Given the description of an element on the screen output the (x, y) to click on. 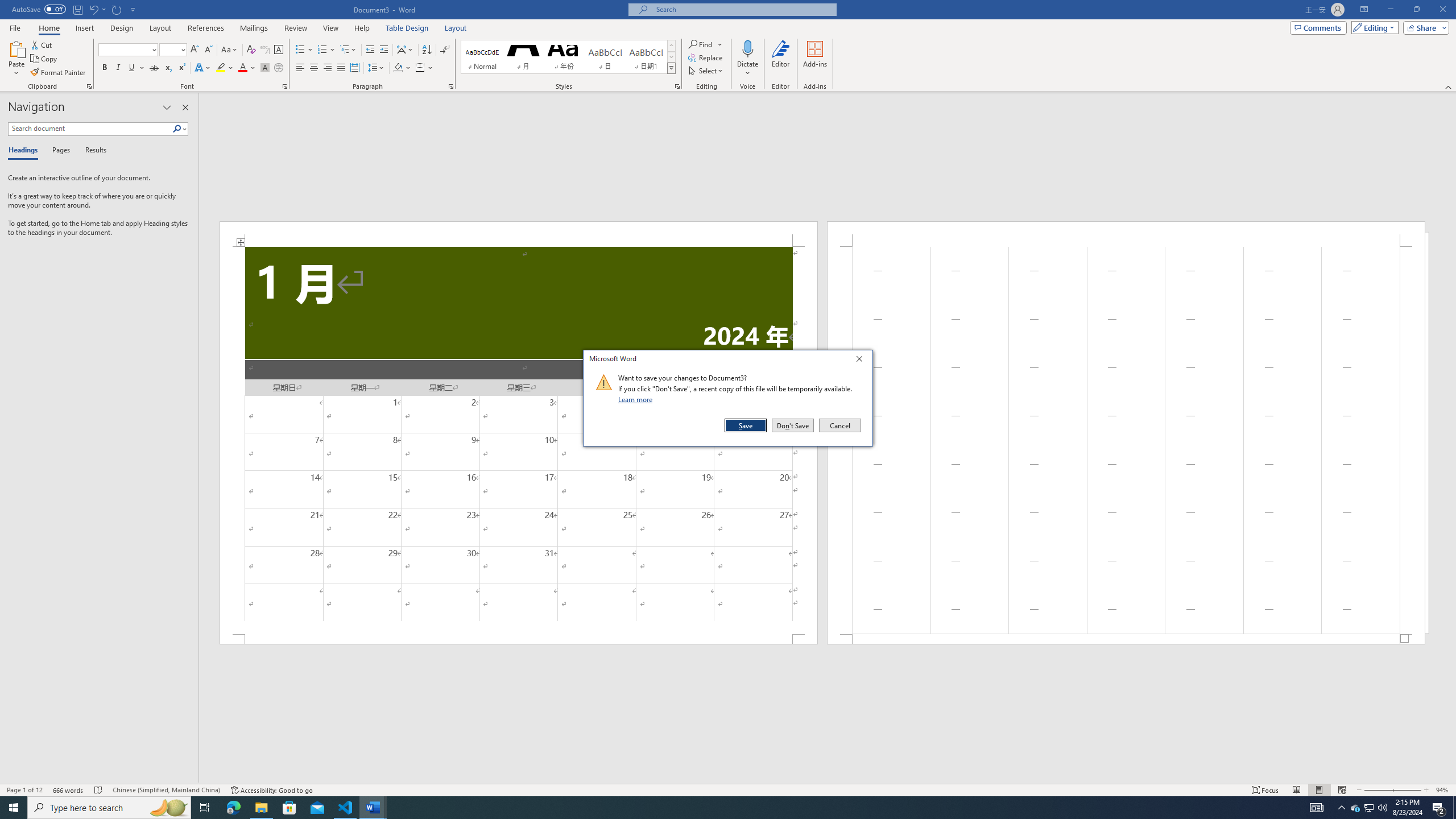
Justify (340, 67)
Styles (670, 67)
Header -Section 1- (1126, 233)
Bold (104, 67)
Microsoft Store (289, 807)
Type here to search (108, 807)
Undo Apply Quick Style (96, 9)
Task View (204, 807)
Text Highlight Color Yellow (220, 67)
